Given the description of an element on the screen output the (x, y) to click on. 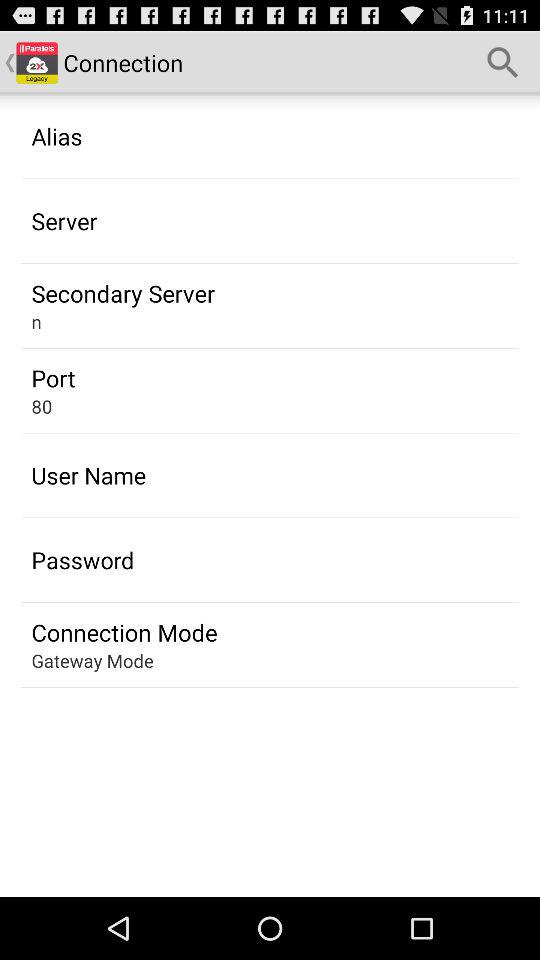
select app above n icon (122, 293)
